Given the description of an element on the screen output the (x, y) to click on. 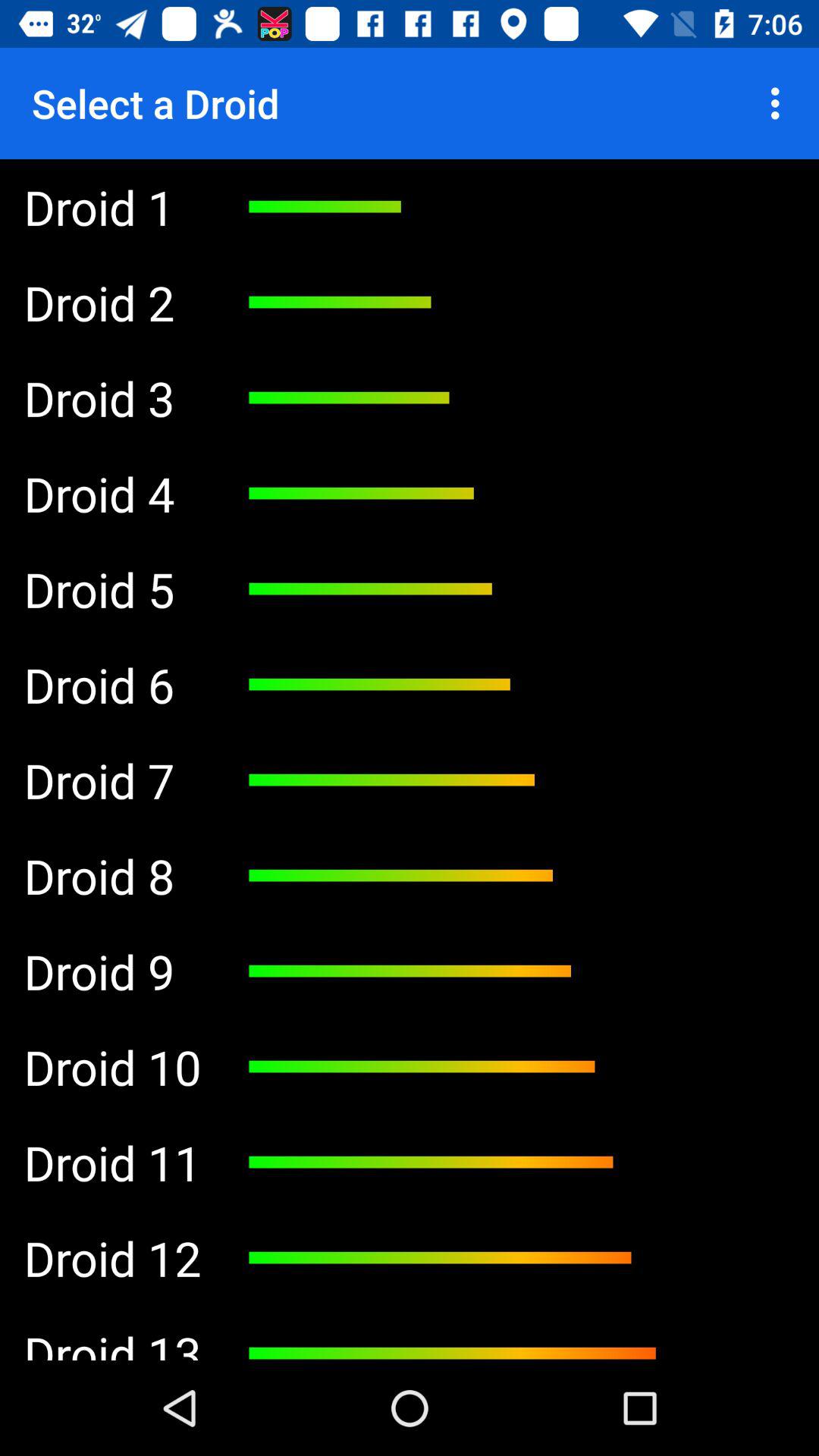
click item below droid 20 app (112, 971)
